Given the description of an element on the screen output the (x, y) to click on. 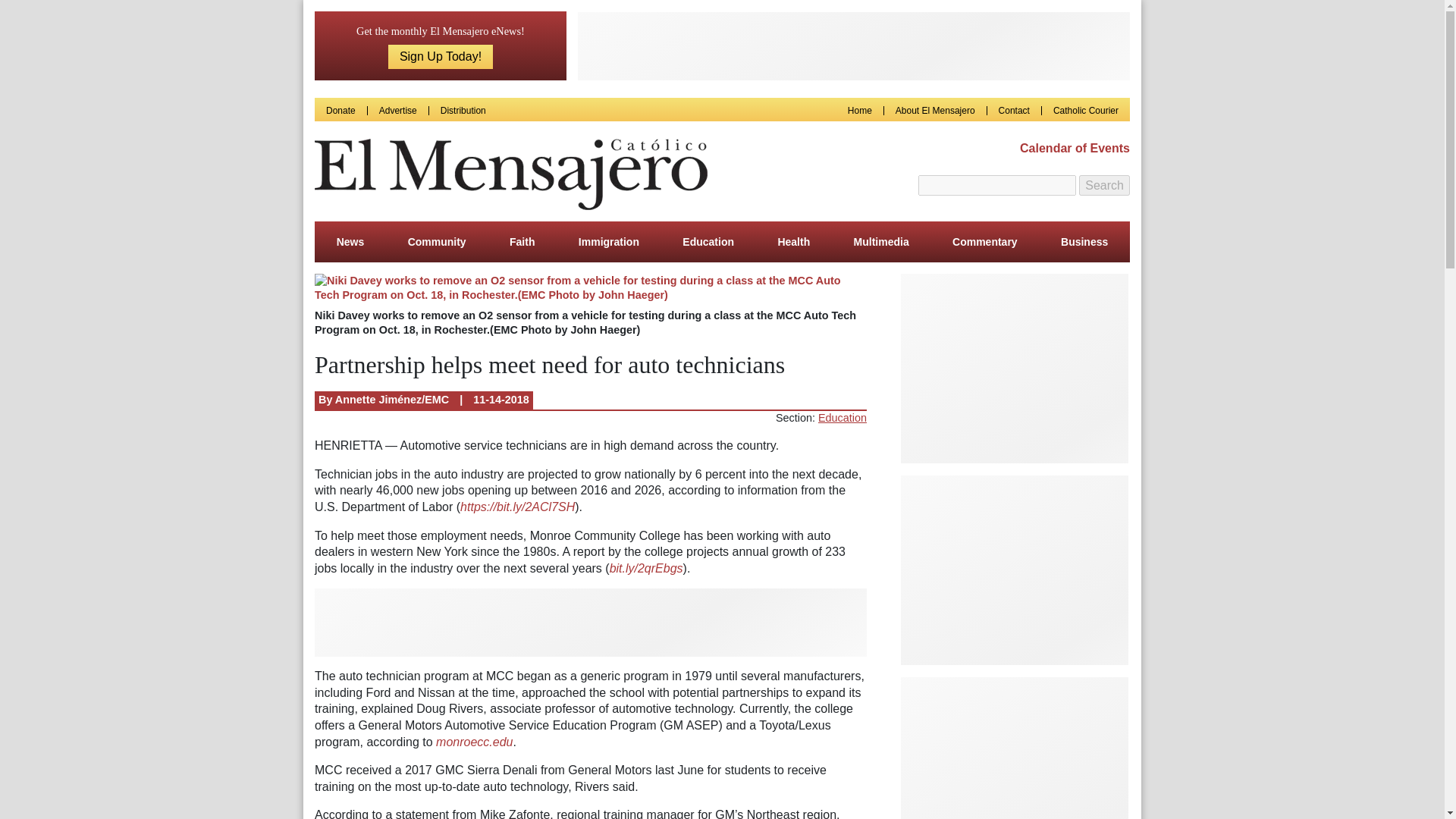
Business (1084, 241)
Donate (340, 110)
Advertise (397, 110)
Multimedia (881, 241)
  Calendar of Events (1071, 148)
Sign Up Today! (440, 56)
Health (793, 241)
Community (436, 241)
About El Mensajero (935, 110)
Contact (1013, 110)
Commentary (984, 241)
monroecc.edu (473, 741)
Education (842, 417)
Immigration (608, 241)
Search (1103, 185)
